Given the description of an element on the screen output the (x, y) to click on. 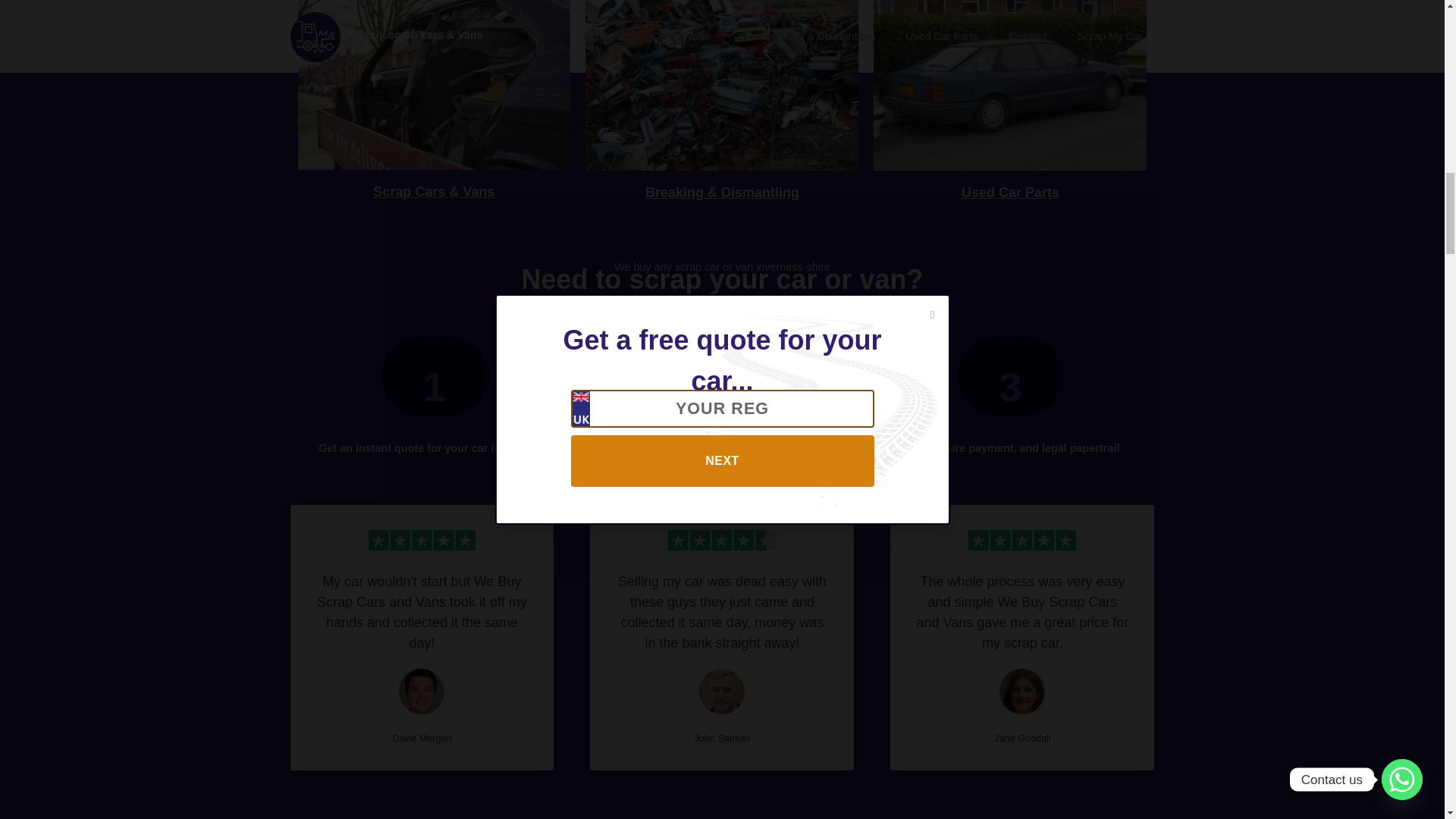
Used Car Parts (1009, 192)
